Given the description of an element on the screen output the (x, y) to click on. 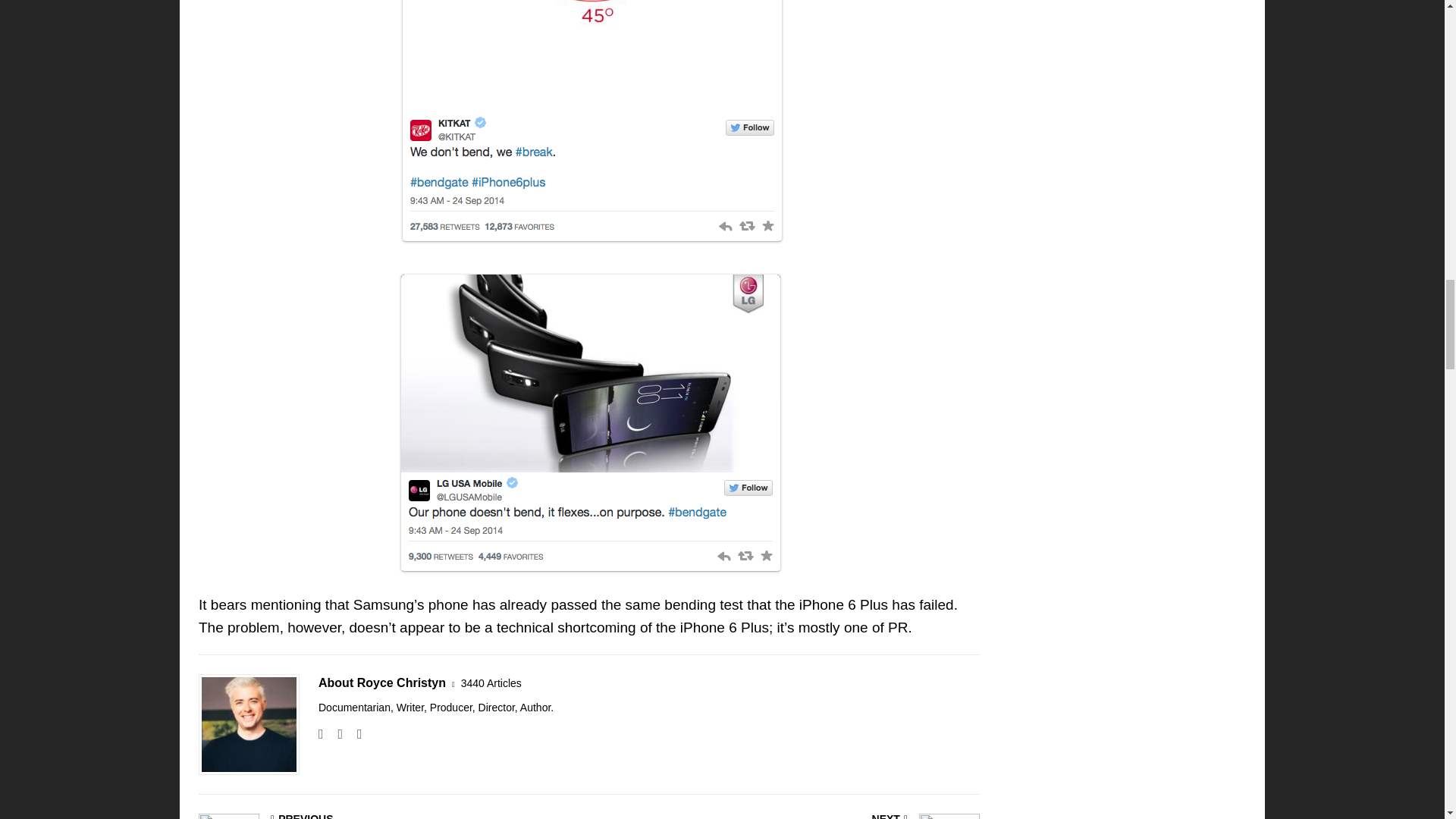
Follow Royce Christyn on Instagram (334, 734)
More articles written by Royce Christyn' (491, 683)
Follow Royce Christyn on Twitter (354, 734)
